Given the description of an element on the screen output the (x, y) to click on. 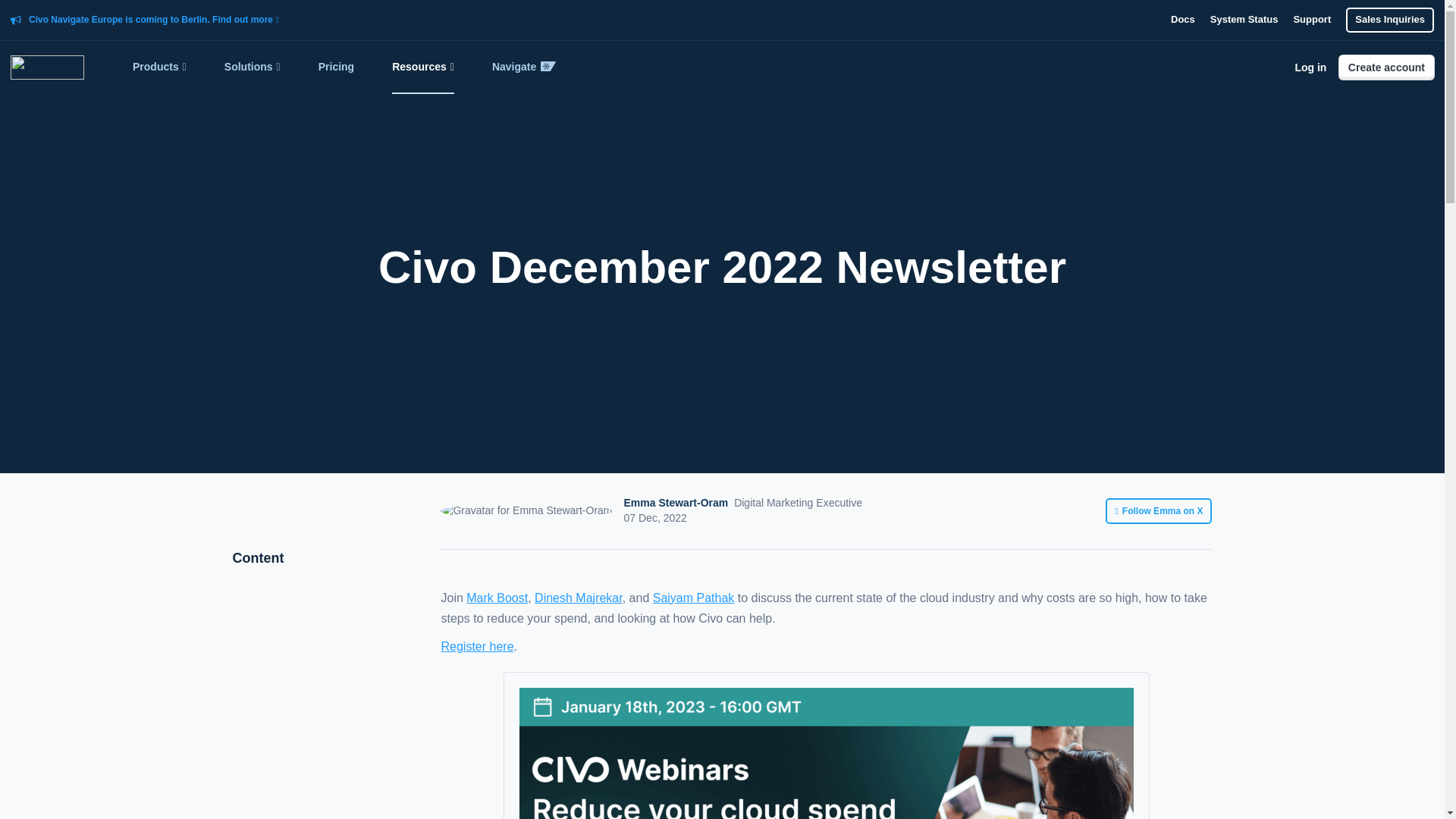
System Status (1243, 20)
Navigate (524, 67)
Docs (1182, 20)
Resources (422, 67)
Civo Navigate Europe is coming to Berlin. Find out more (154, 19)
Solutions (252, 67)
Support (1311, 20)
Sales Inquiries (1389, 19)
Products (159, 67)
